Given the description of an element on the screen output the (x, y) to click on. 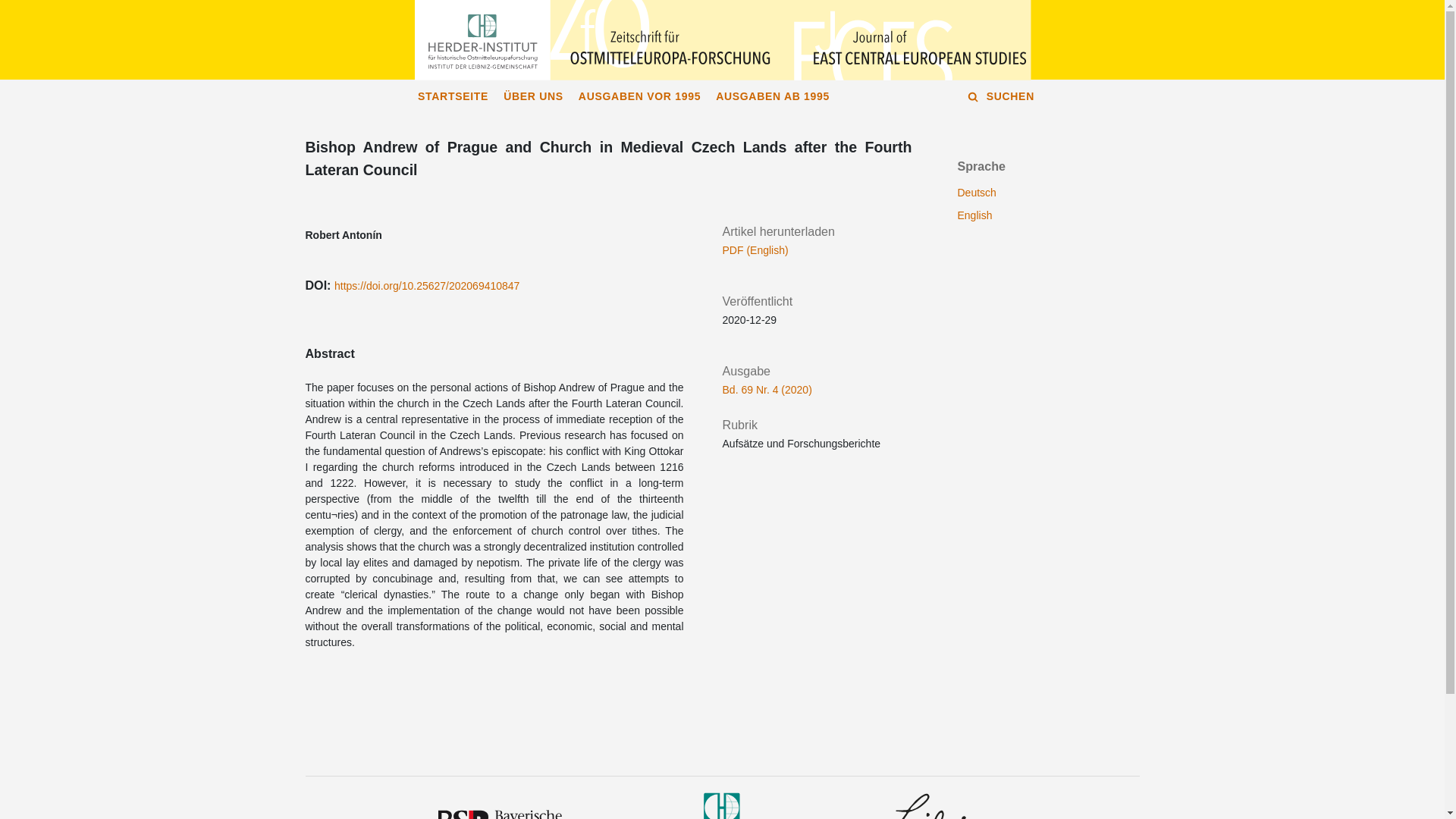
English (973, 215)
Deutsch (975, 192)
AUSGABEN AB 1995 (772, 96)
STARTSEITE (453, 96)
AUSGABEN VOR 1995 (638, 96)
SUCHEN (1005, 96)
